Given the description of an element on the screen output the (x, y) to click on. 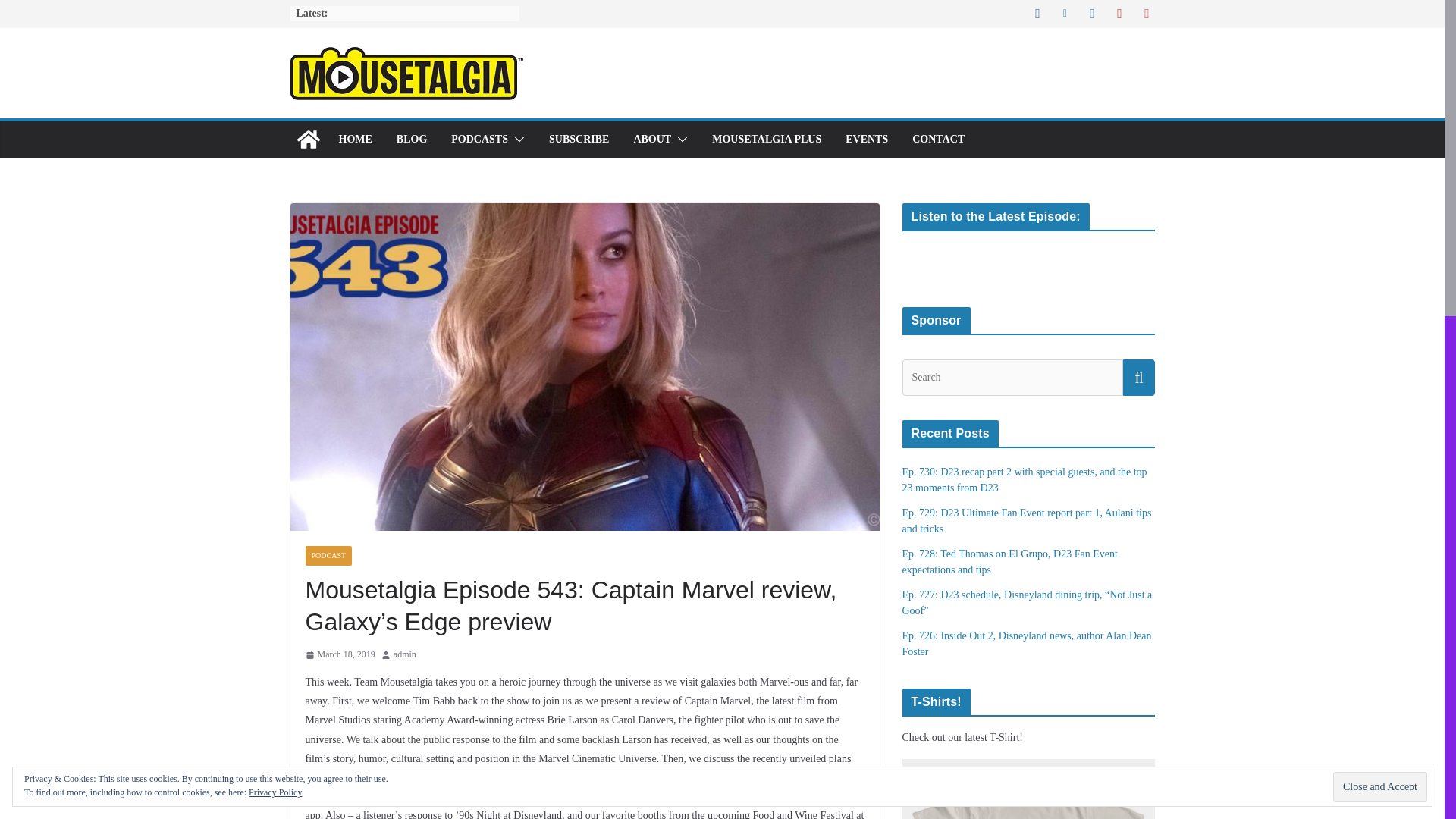
EVENTS (866, 138)
HOME (354, 138)
March 18, 2019 (339, 655)
Close and Accept (1379, 786)
SUBSCRIBE (578, 138)
ABOUT (652, 138)
admin (404, 655)
PODCAST (328, 555)
MOUSETALGIA PLUS (766, 138)
PODCASTS (479, 138)
